Given the description of an element on the screen output the (x, y) to click on. 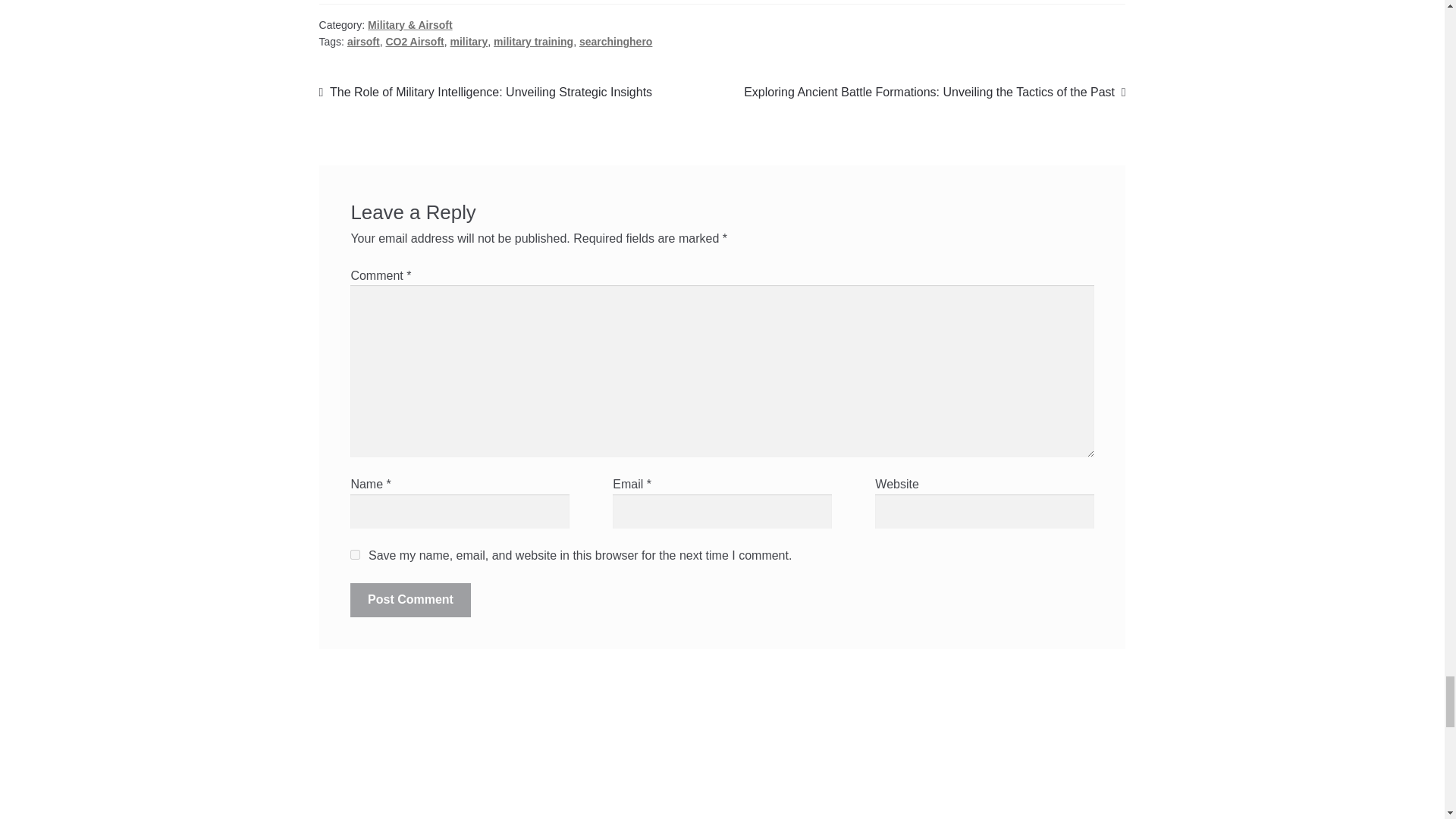
yes (354, 554)
Post Comment (410, 599)
